Given the description of an element on the screen output the (x, y) to click on. 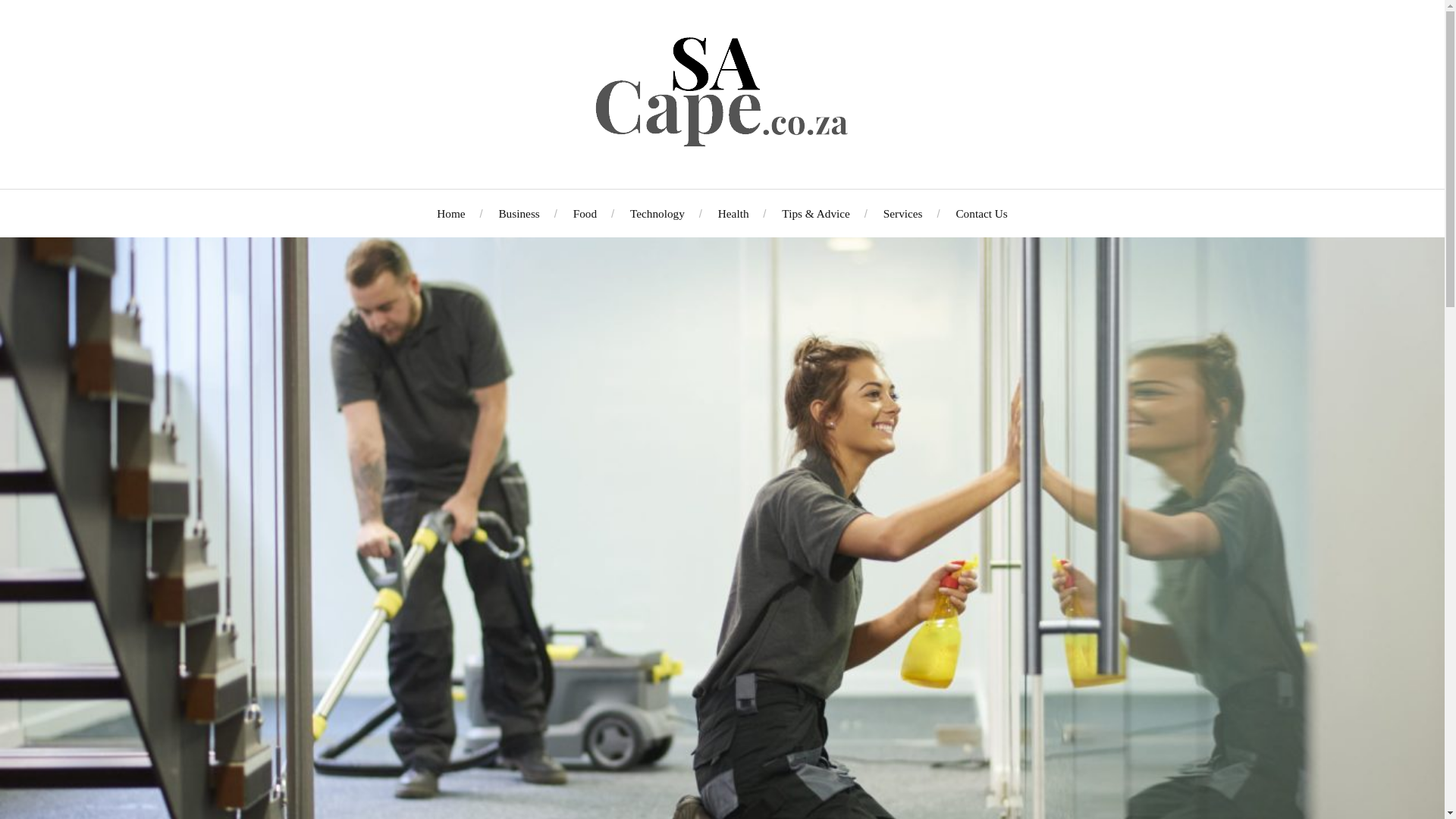
Contact Us (981, 213)
Technology (657, 213)
